Given the description of an element on the screen output the (x, y) to click on. 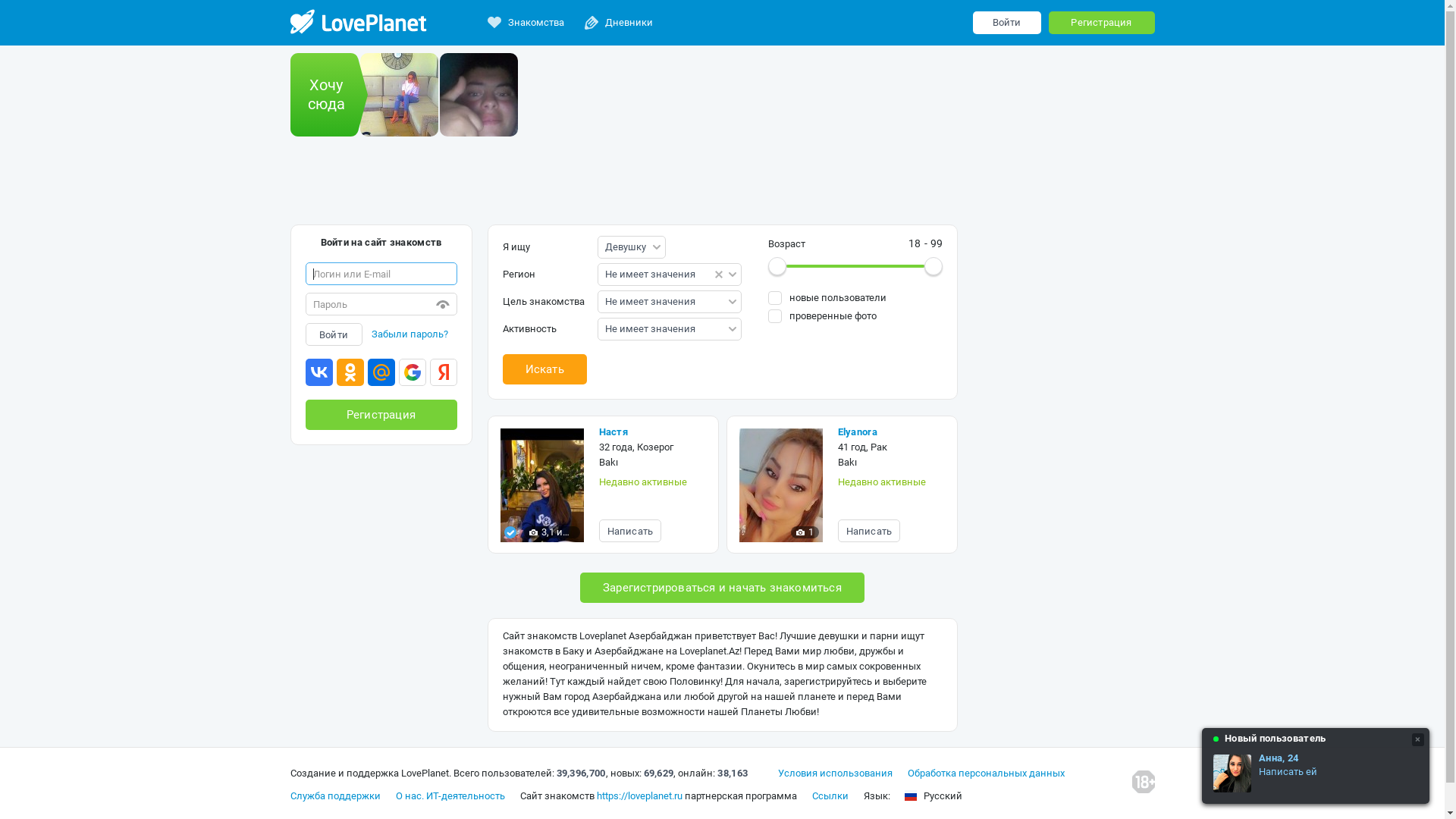
Elyanora Element type: text (890, 431)
39,396,700 Element type: text (580, 772)
Google Element type: hover (412, 374)
Advertisement Element type: hover (721, 185)
Yandex Element type: hover (442, 374)
https://loveplanet.ru Element type: text (638, 795)
Mail.ru Element type: hover (380, 374)
38,163 Element type: text (732, 772)
69,629 Element type: text (658, 772)
